Given the description of an element on the screen output the (x, y) to click on. 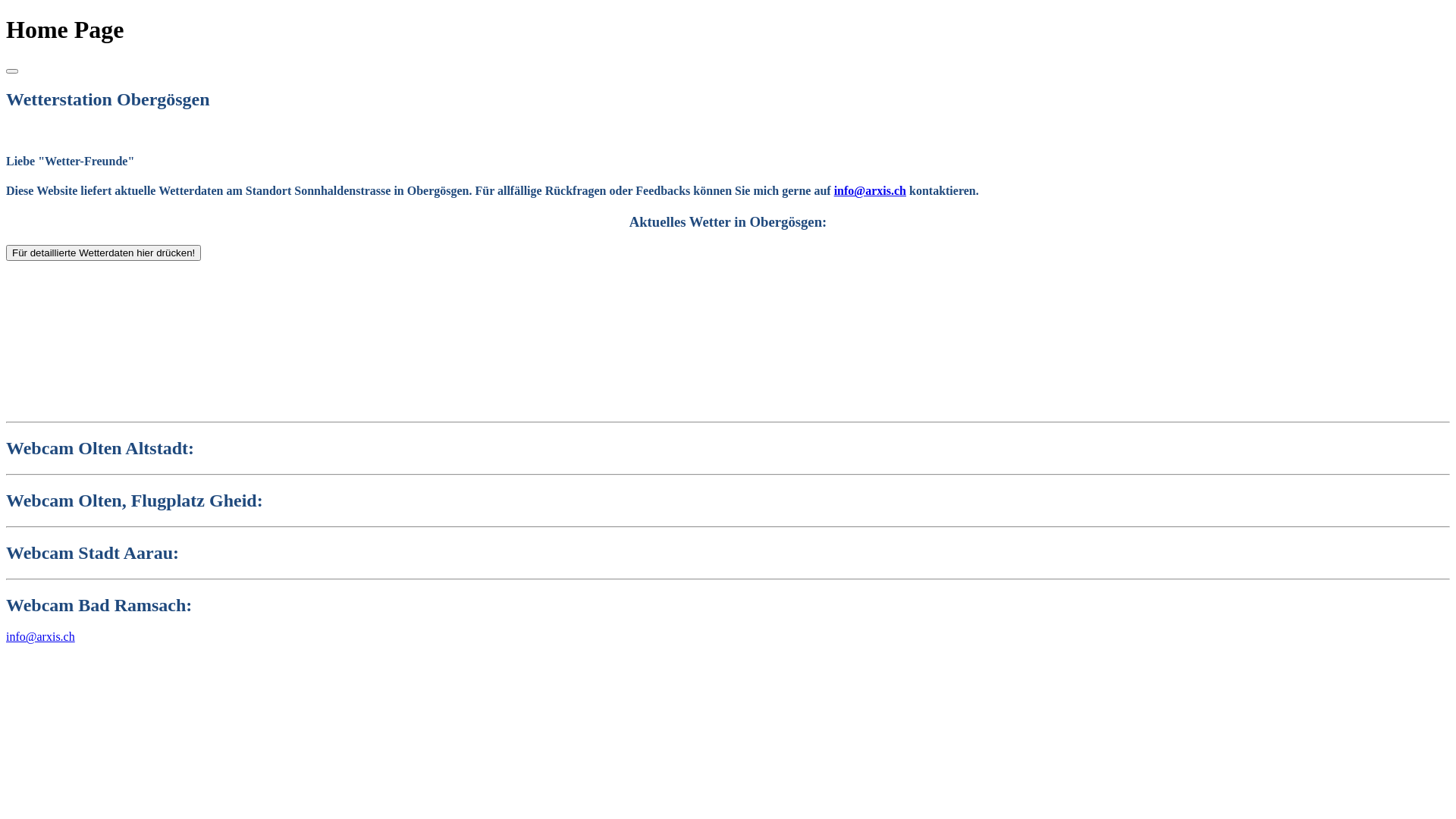
info@arxis.ch Element type: text (870, 190)
info@arxis.ch Element type: text (40, 636)
